Given the description of an element on the screen output the (x, y) to click on. 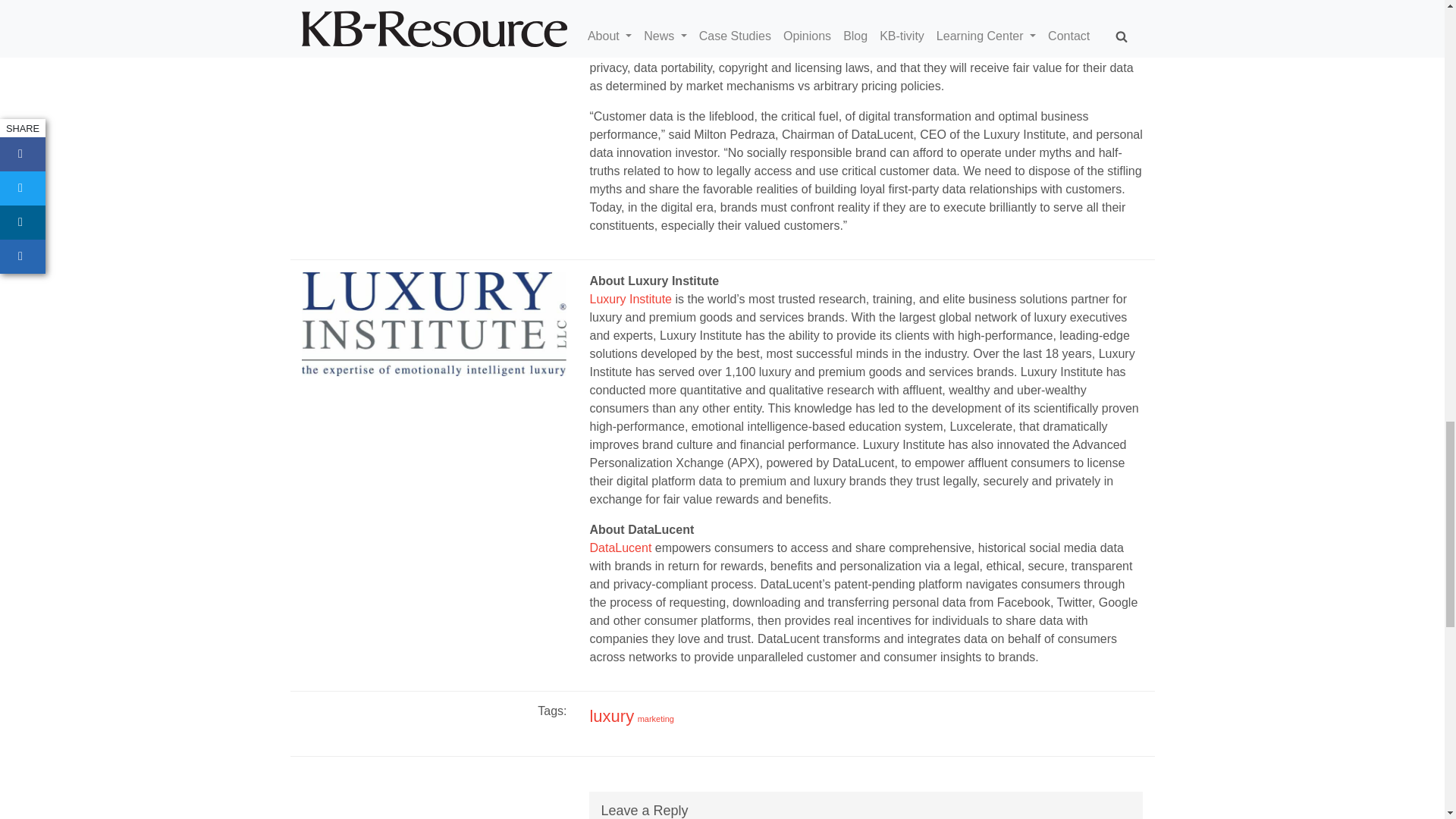
marketing (655, 718)
DataLucent (619, 547)
luxury (611, 715)
Luxury Institute (630, 298)
